Given the description of an element on the screen output the (x, y) to click on. 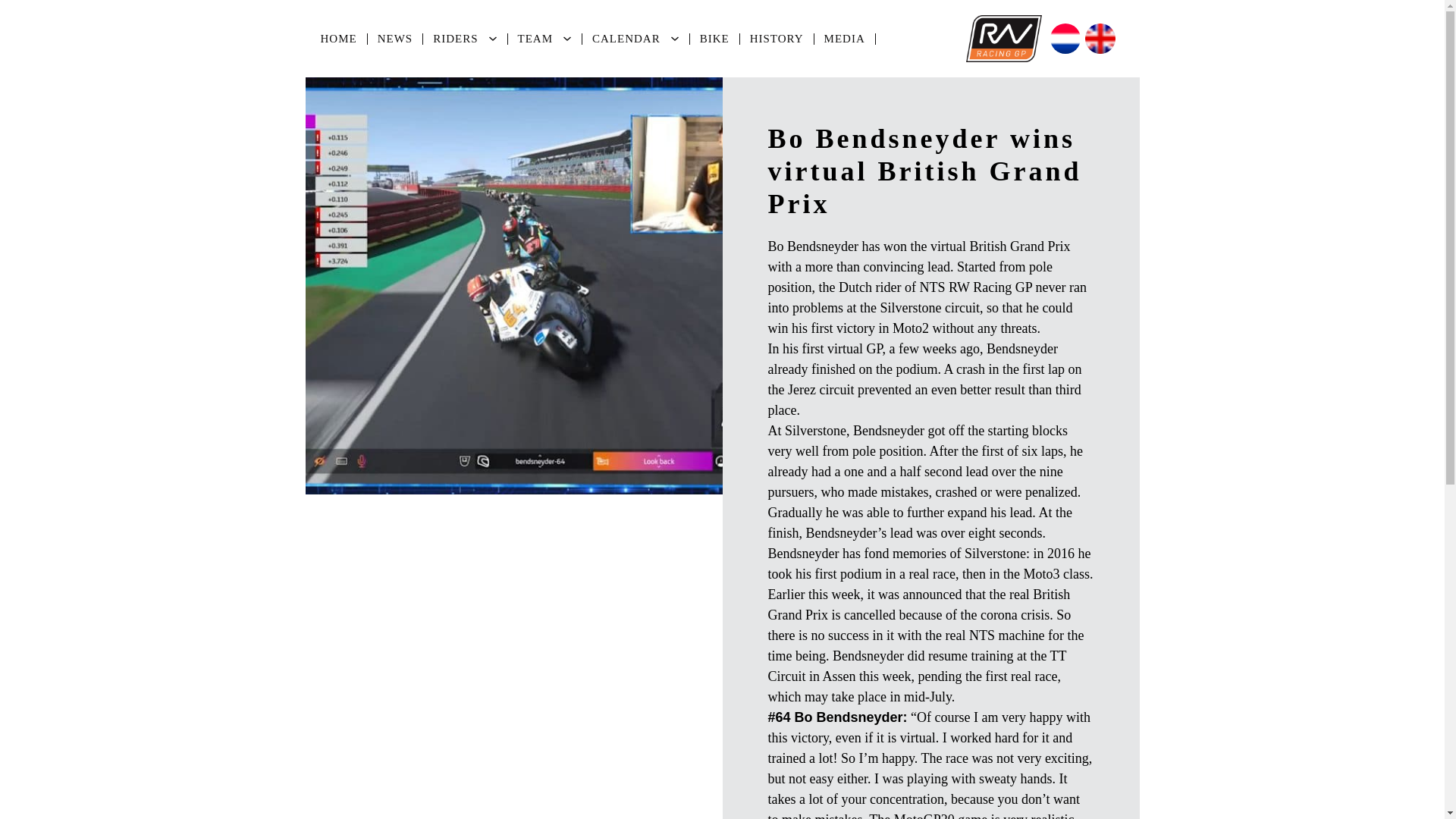
TEAM (535, 39)
NEWS (395, 39)
HISTORY (776, 39)
CALENDAR (625, 39)
MEDIA (844, 39)
BIKE (714, 39)
RIDERS (455, 39)
HOME (339, 39)
